Given the description of an element on the screen output the (x, y) to click on. 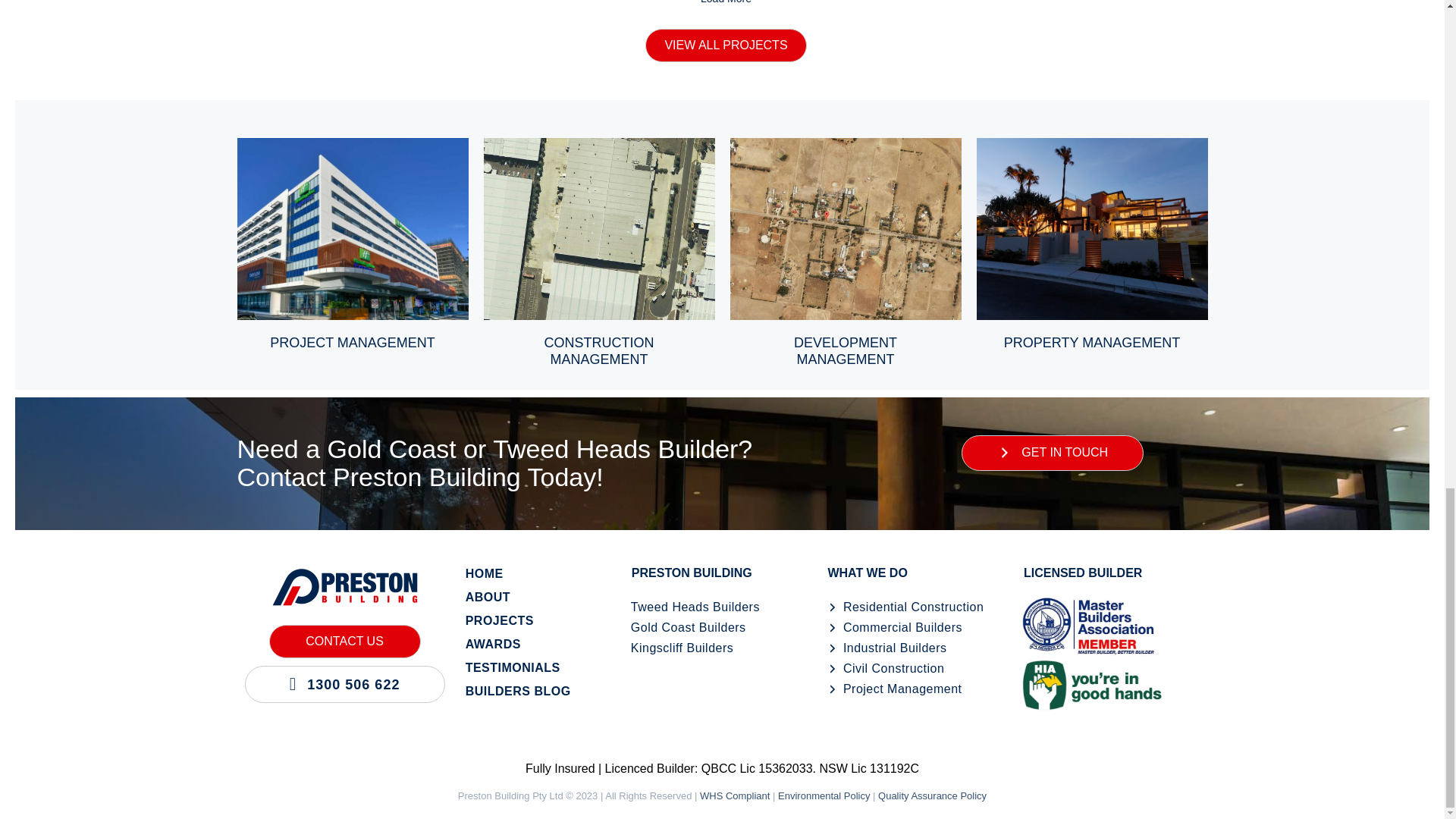
Development Management (844, 145)
Construction Management (598, 350)
Project Management (351, 145)
Construction Management (598, 145)
Project Management (352, 342)
